Given the description of an element on the screen output the (x, y) to click on. 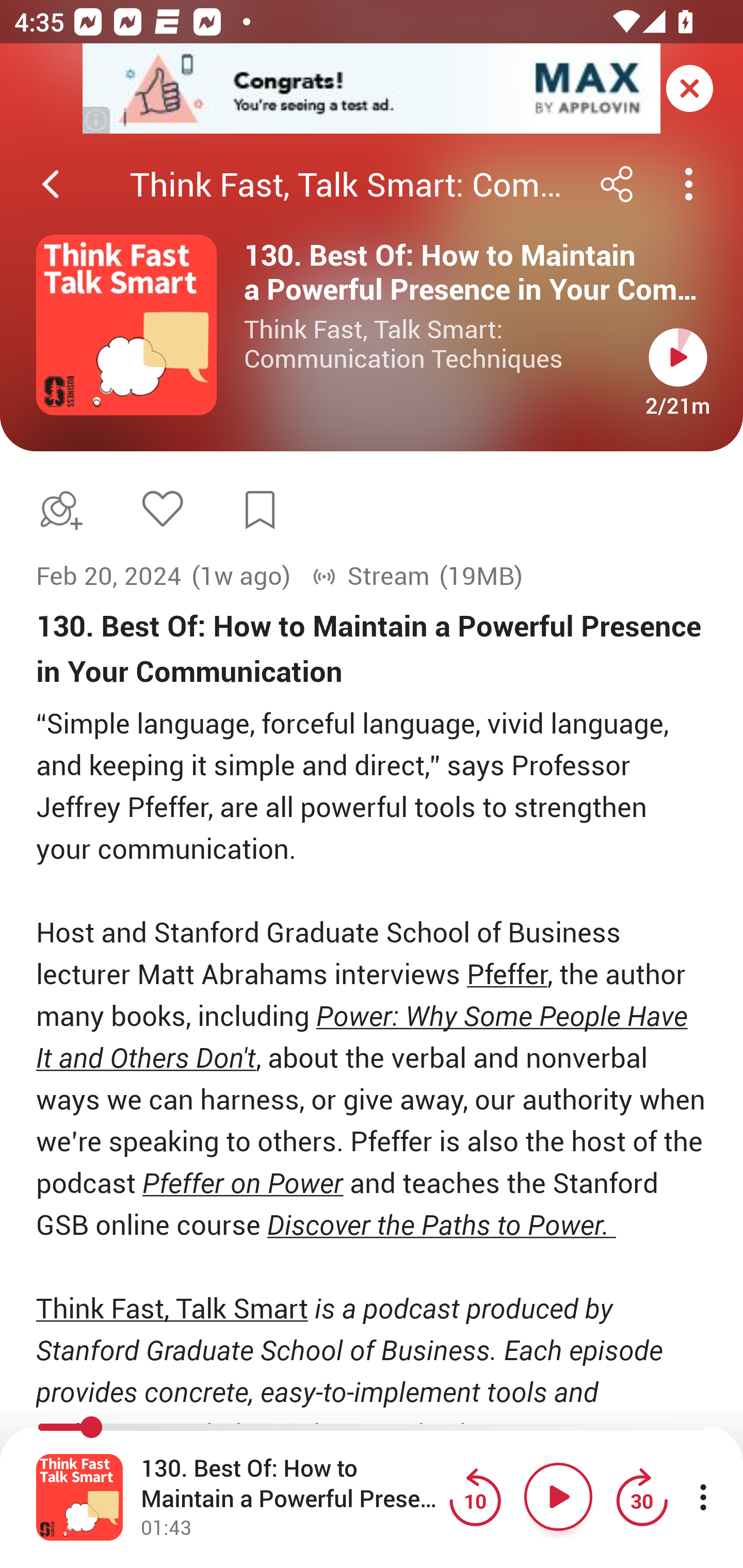
app-monetization (371, 88)
(i) (96, 119)
Back (50, 184)
Open series (126, 325)
Play button (677, 357)
Like (161, 507)
Add episode to Play Later (57, 509)
New bookmark … (259, 510)
Stream (370, 576)
Open fullscreen player (79, 1497)
More player controls (703, 1497)
Play button (558, 1496)
Jump back (475, 1497)
Jump forward (641, 1497)
